Given the description of an element on the screen output the (x, y) to click on. 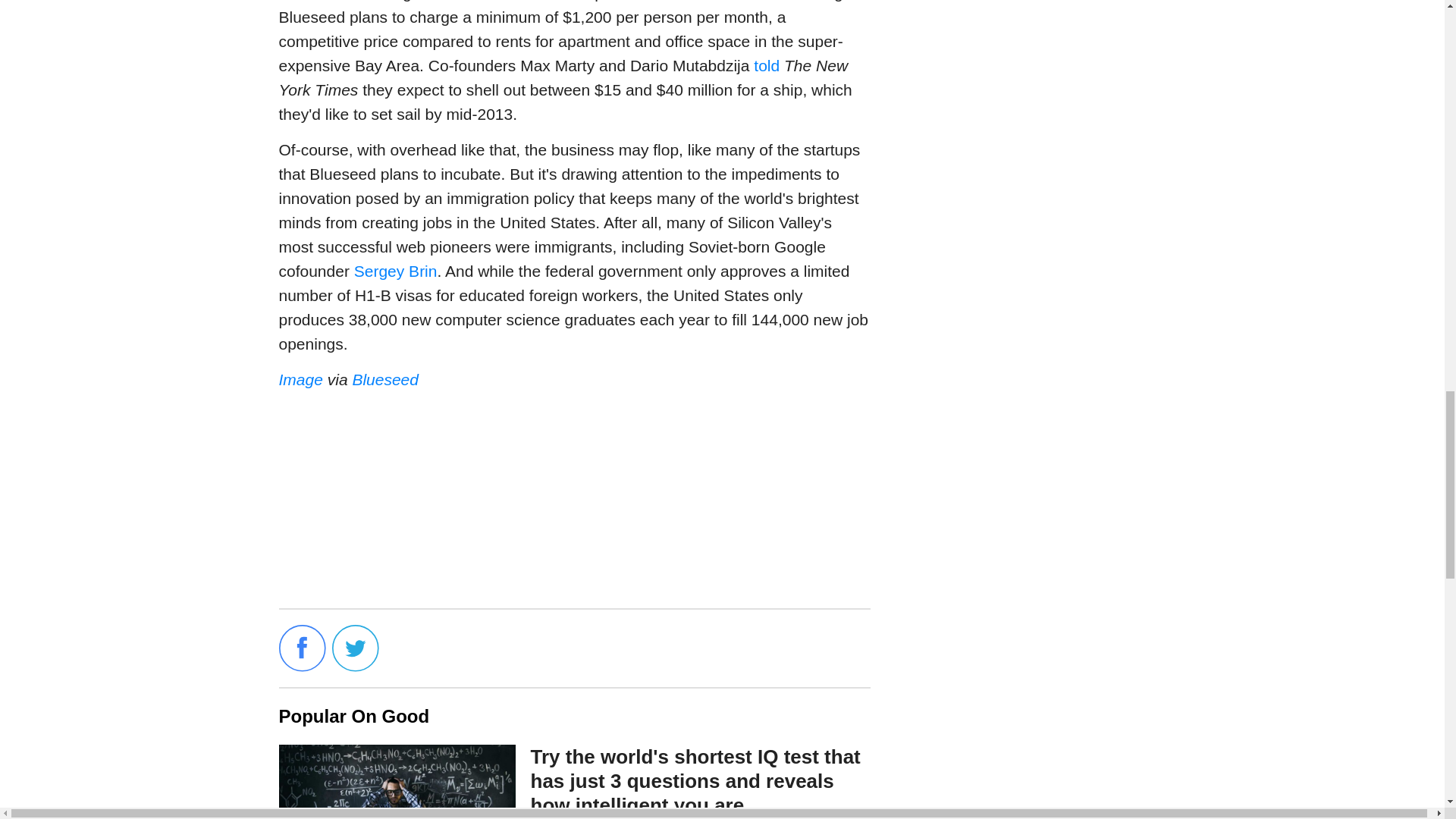
told (766, 65)
Image (301, 379)
Sergey Brin (395, 271)
Blueseed (385, 379)
